Given the description of an element on the screen output the (x, y) to click on. 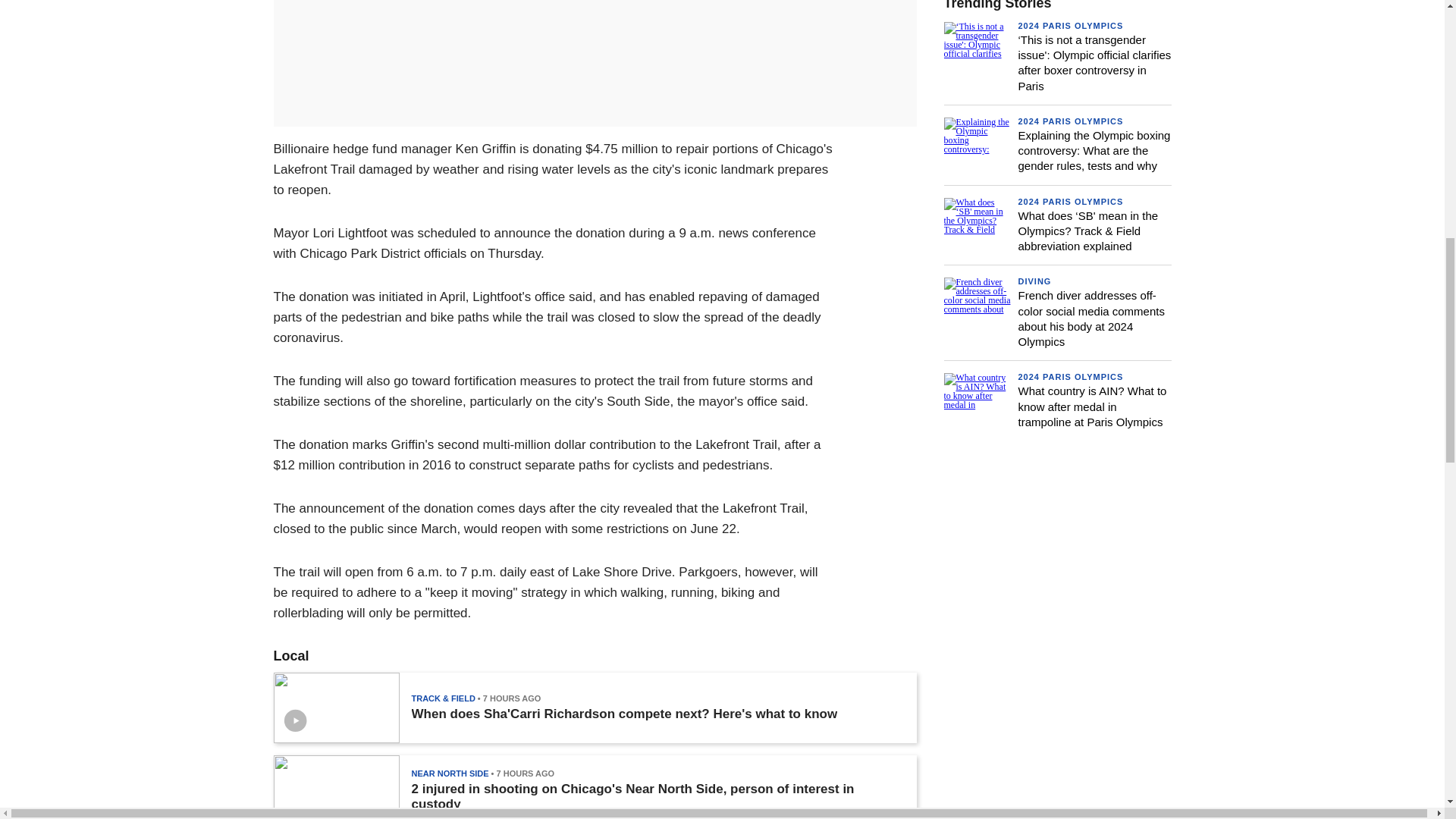
2024 PARIS OLYMPICS (1069, 25)
NEAR NORTH SIDE (448, 773)
